Given the description of an element on the screen output the (x, y) to click on. 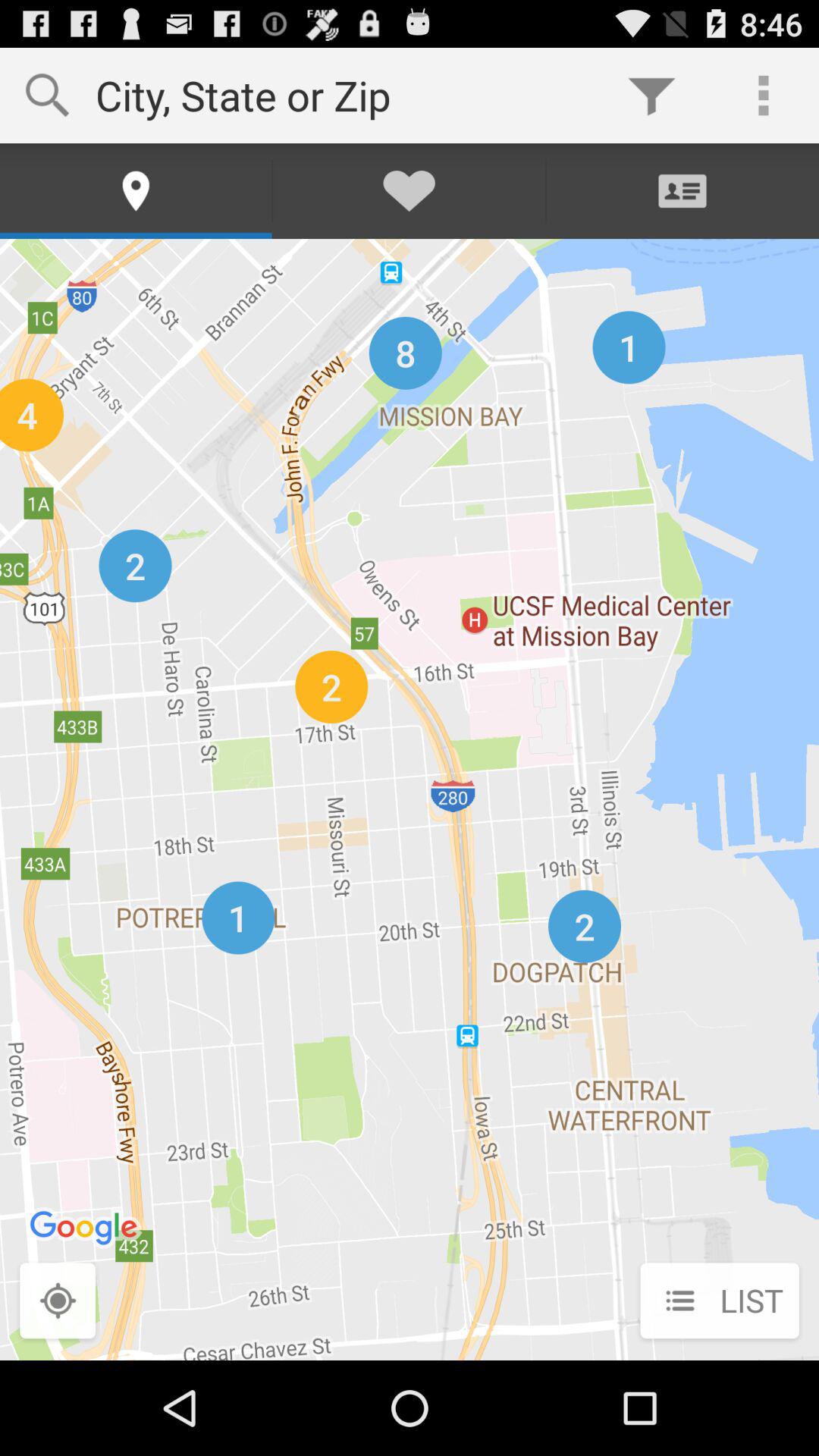
tap the item at the center (409, 799)
